Given the description of an element on the screen output the (x, y) to click on. 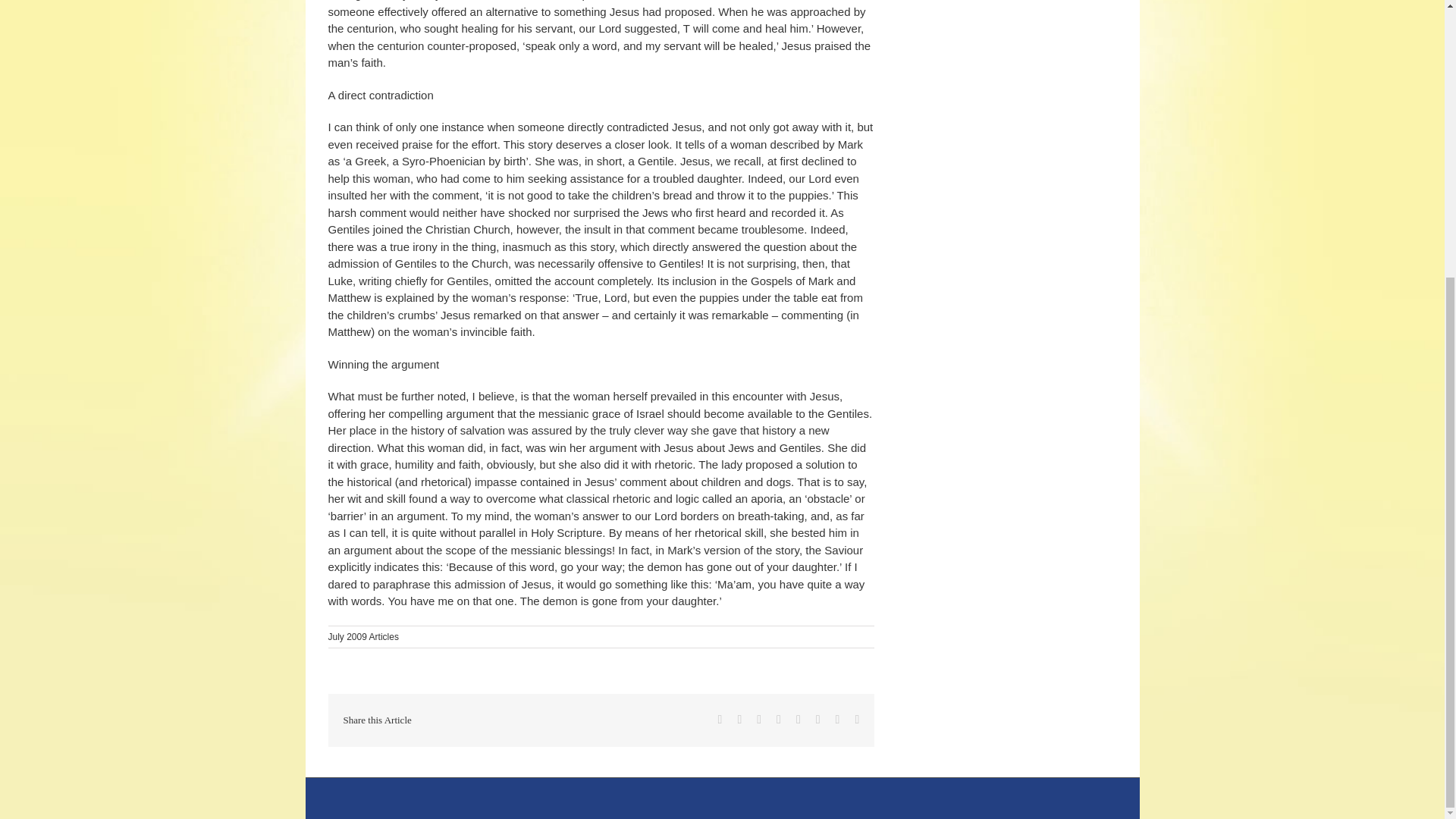
July 2009 Articles (362, 636)
